Given the description of an element on the screen output the (x, y) to click on. 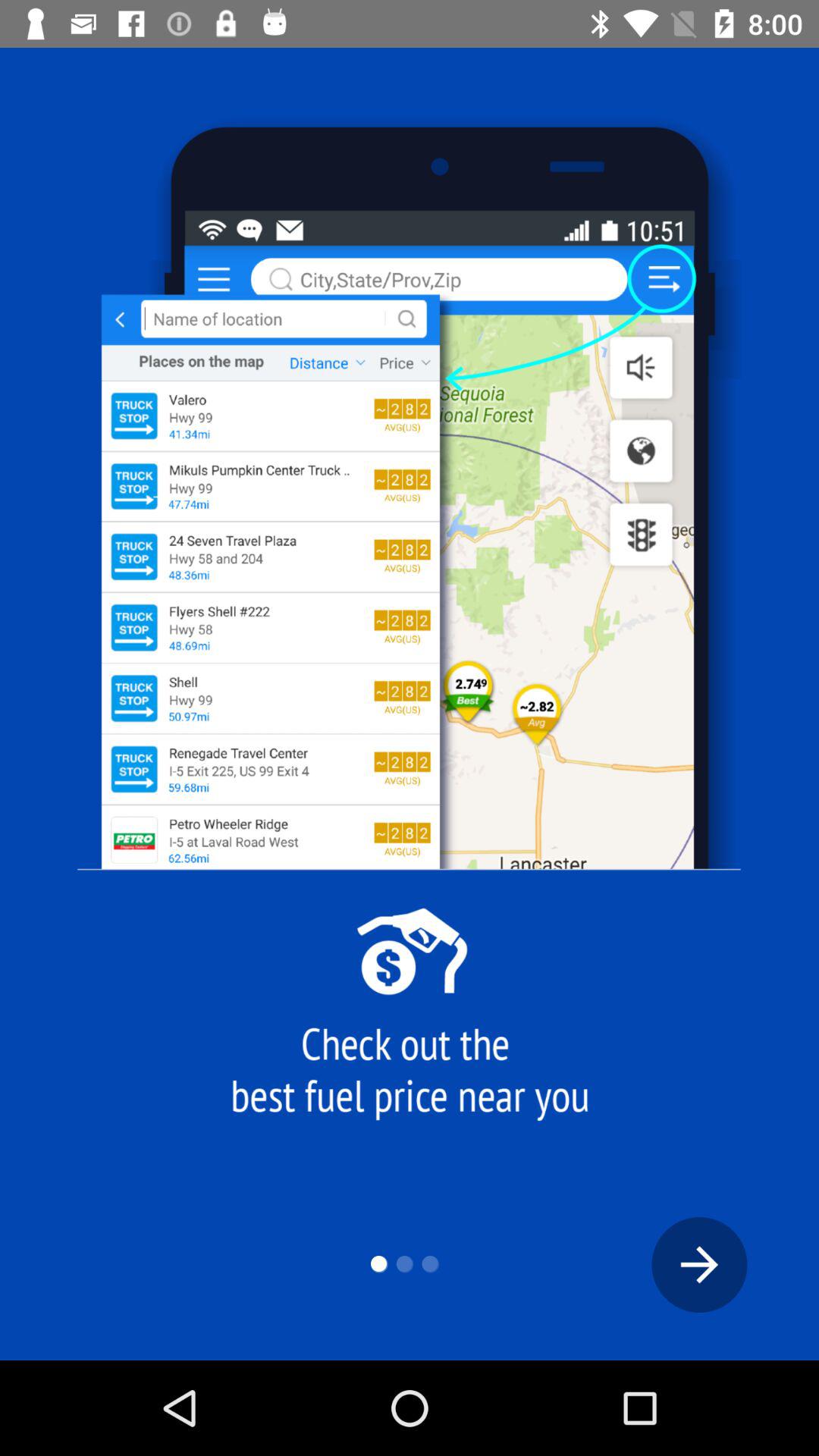
go forward (699, 1264)
